Given the description of an element on the screen output the (x, y) to click on. 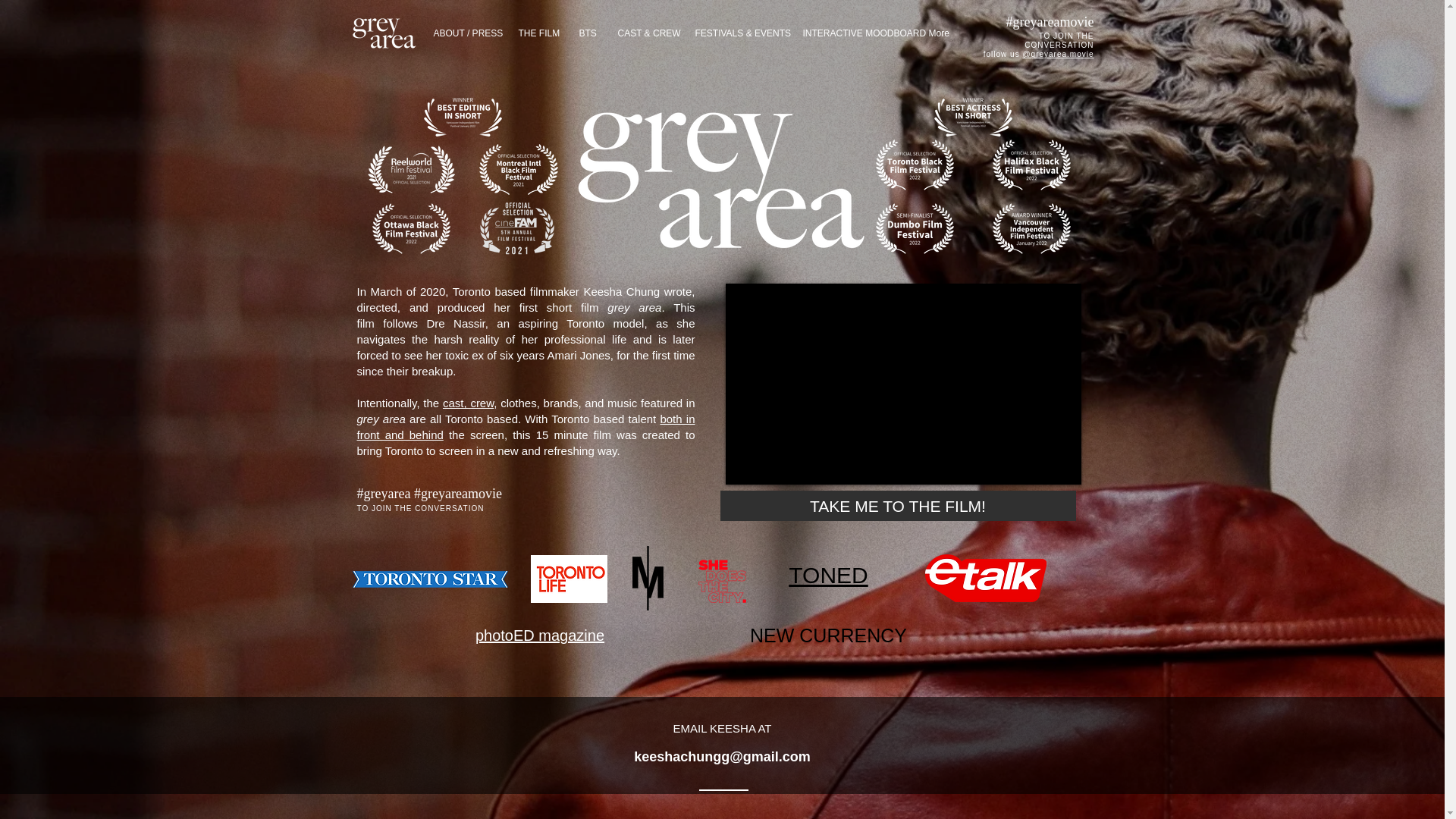
TONED (828, 575)
BTS (586, 33)
cast, crew (467, 402)
photoED magazine (540, 635)
THE FILM (536, 33)
both in front and behind (525, 426)
TAKE ME TO THE FILM! (897, 505)
INTERACTIVE MOODBOARD (854, 33)
